Given the description of an element on the screen output the (x, y) to click on. 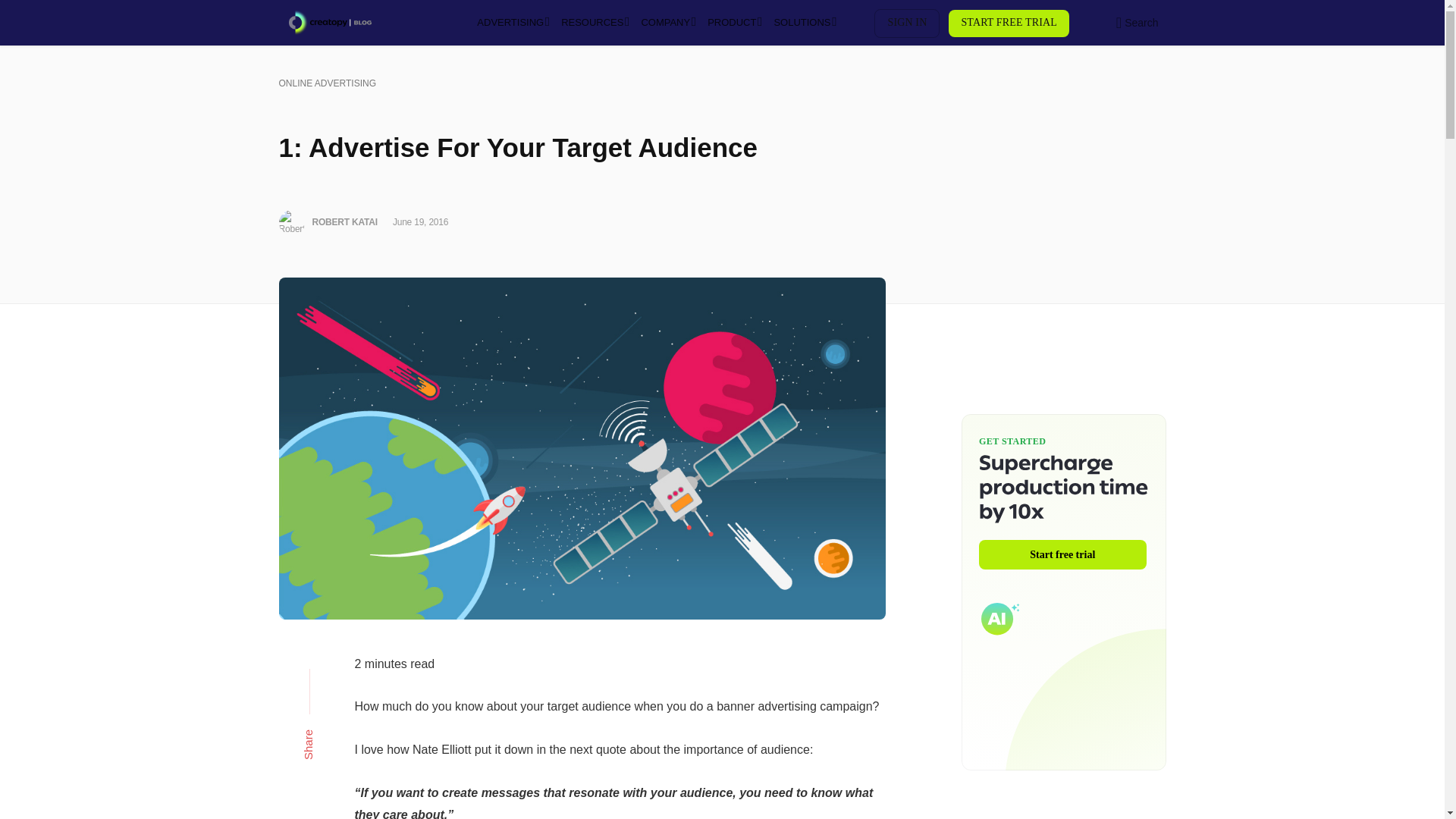
June 19, 2016 at 6:52 am (420, 222)
RESOURCES (593, 22)
ONLINE ADVERTISING (327, 83)
START FREE TRIAL (1008, 22)
ROBERT KATAI (345, 222)
SIGN IN (907, 23)
COMPANY (666, 22)
Search (1137, 22)
ADVERTISING (510, 22)
PRODUCT (732, 22)
